Given the description of an element on the screen output the (x, y) to click on. 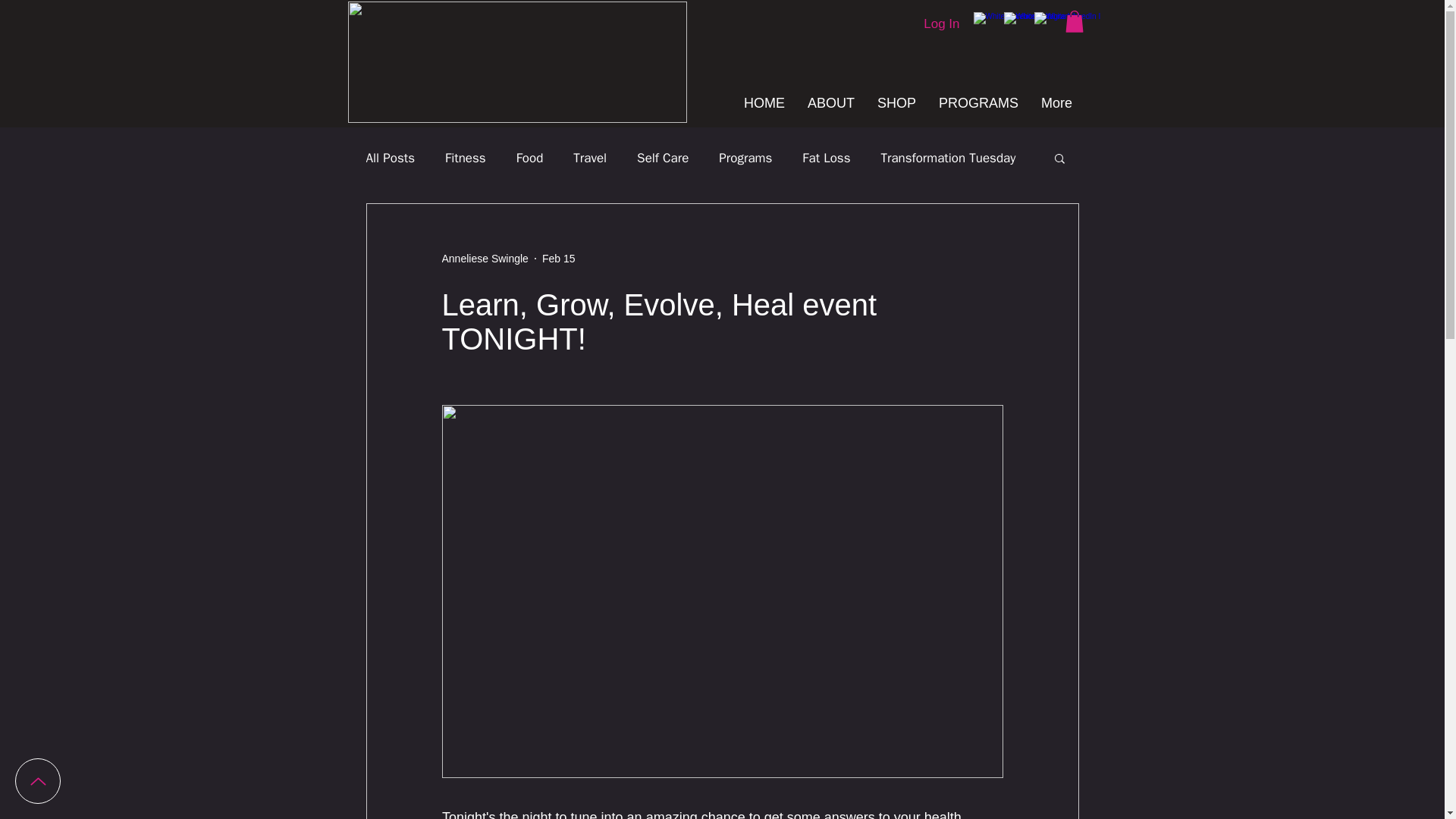
Anneliese Swingle (484, 258)
HOME (764, 103)
Fitness (465, 157)
Programs (745, 157)
ABOUT (831, 103)
Feb 15 (558, 257)
SHOP (896, 103)
Fat Loss (826, 157)
Transformation Tuesday (947, 157)
Travel (590, 157)
